Given the description of an element on the screen output the (x, y) to click on. 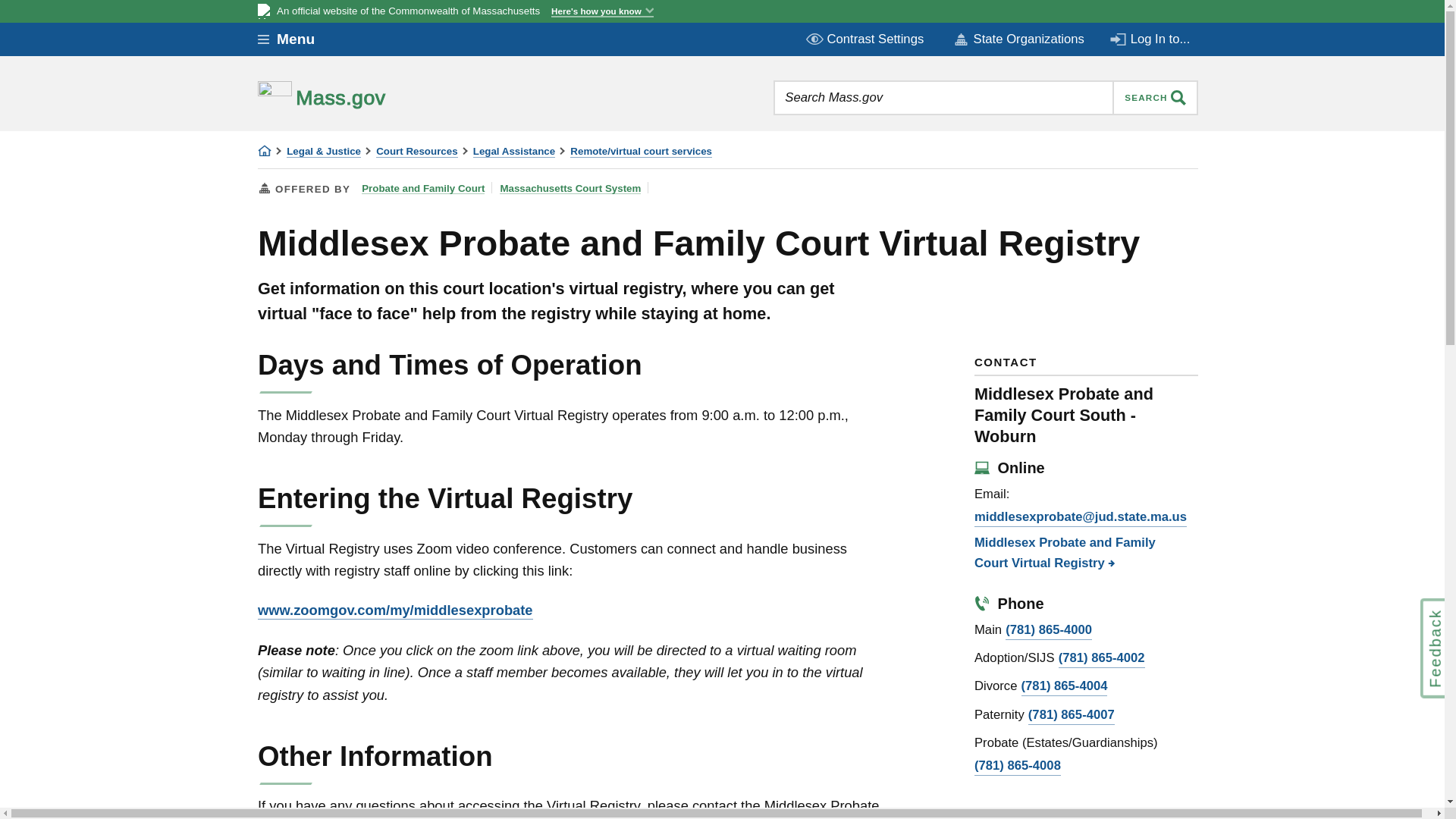
Menu (297, 39)
Contrast Settings (866, 38)
Log In to... (1151, 38)
Mass.gov home page (369, 97)
State Organizations (1018, 39)
